Given the description of an element on the screen output the (x, y) to click on. 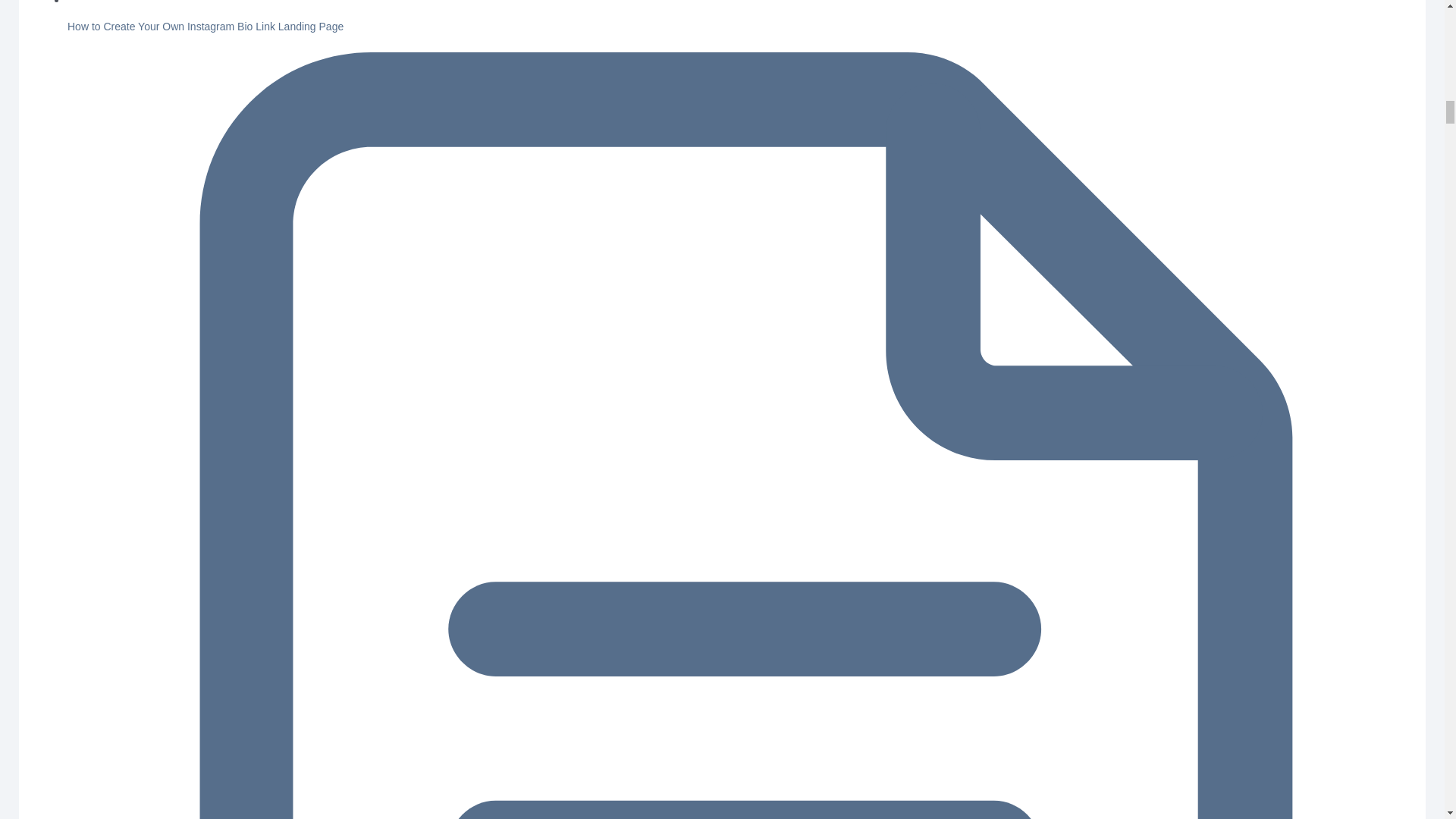
How to Create Your Own Instagram Bio Link Landing Page (204, 26)
